Given the description of an element on the screen output the (x, y) to click on. 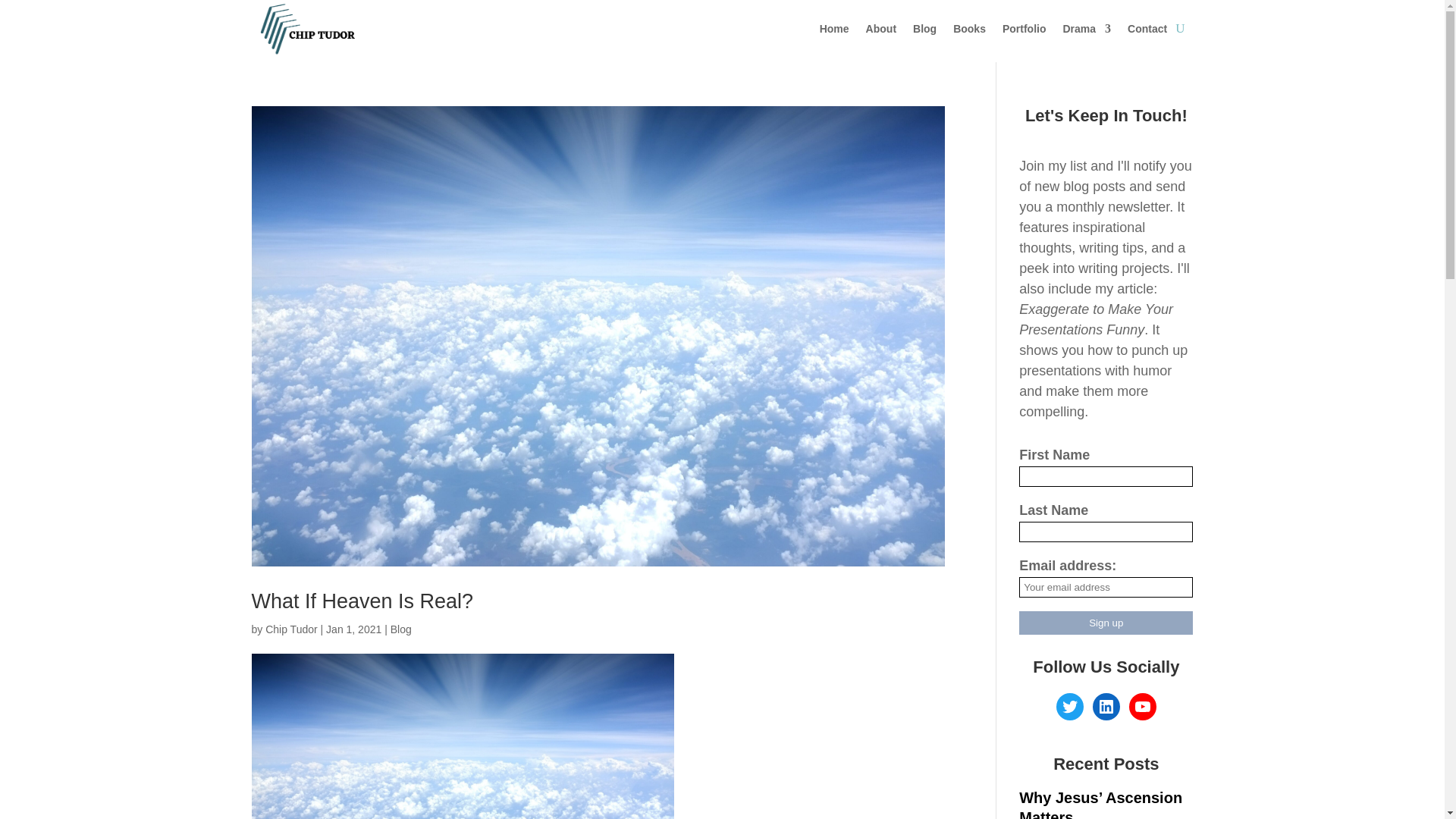
Sign up (1105, 622)
Posts by Chip Tudor (290, 629)
Blog (401, 629)
What If Heaven Is Real? (362, 600)
Chip Tudor (290, 629)
